Given the description of an element on the screen output the (x, y) to click on. 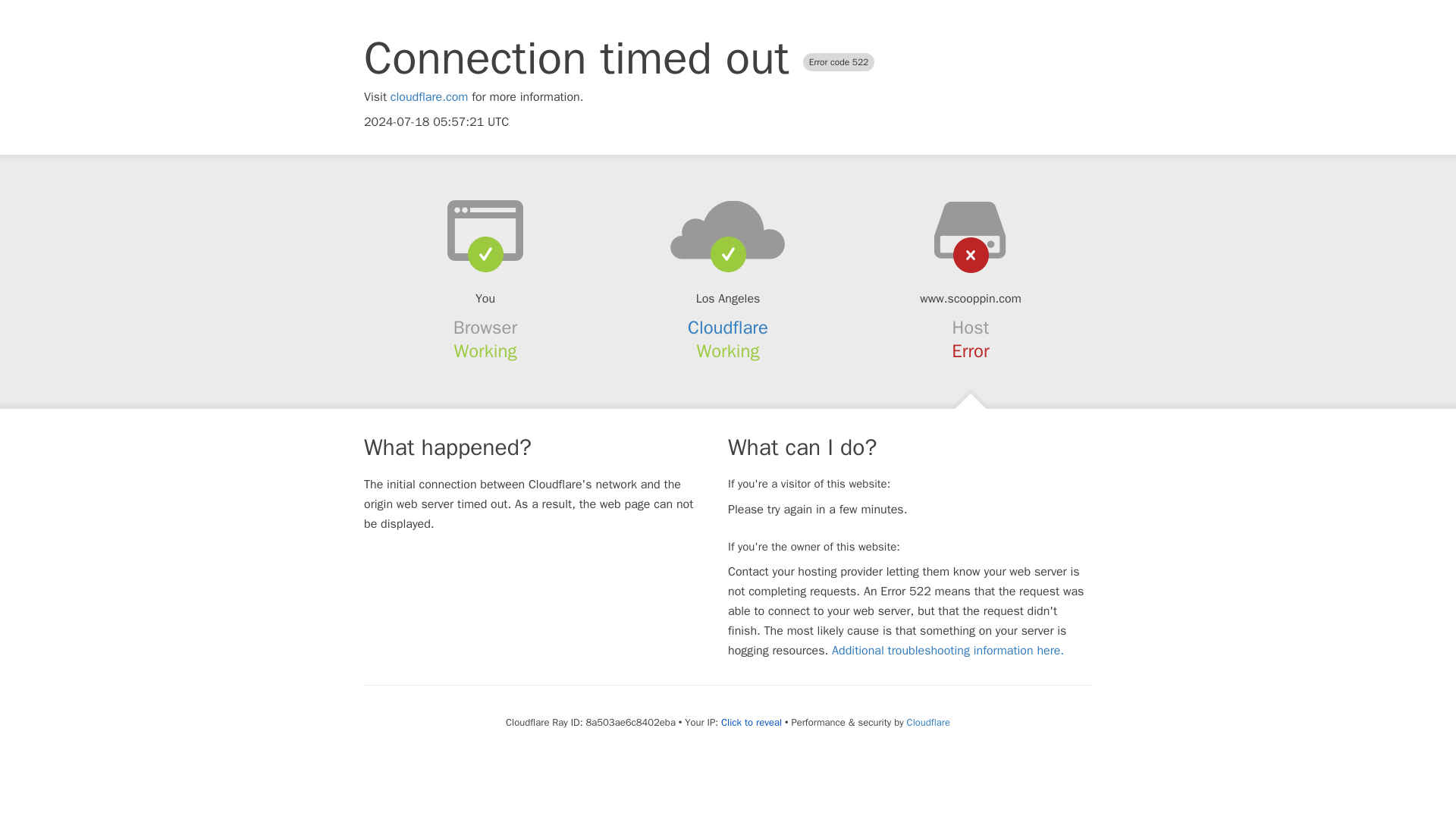
cloudflare.com (429, 96)
Click to reveal (750, 722)
Cloudflare (928, 721)
Cloudflare (727, 327)
Additional troubleshooting information here. (947, 650)
